Given the description of an element on the screen output the (x, y) to click on. 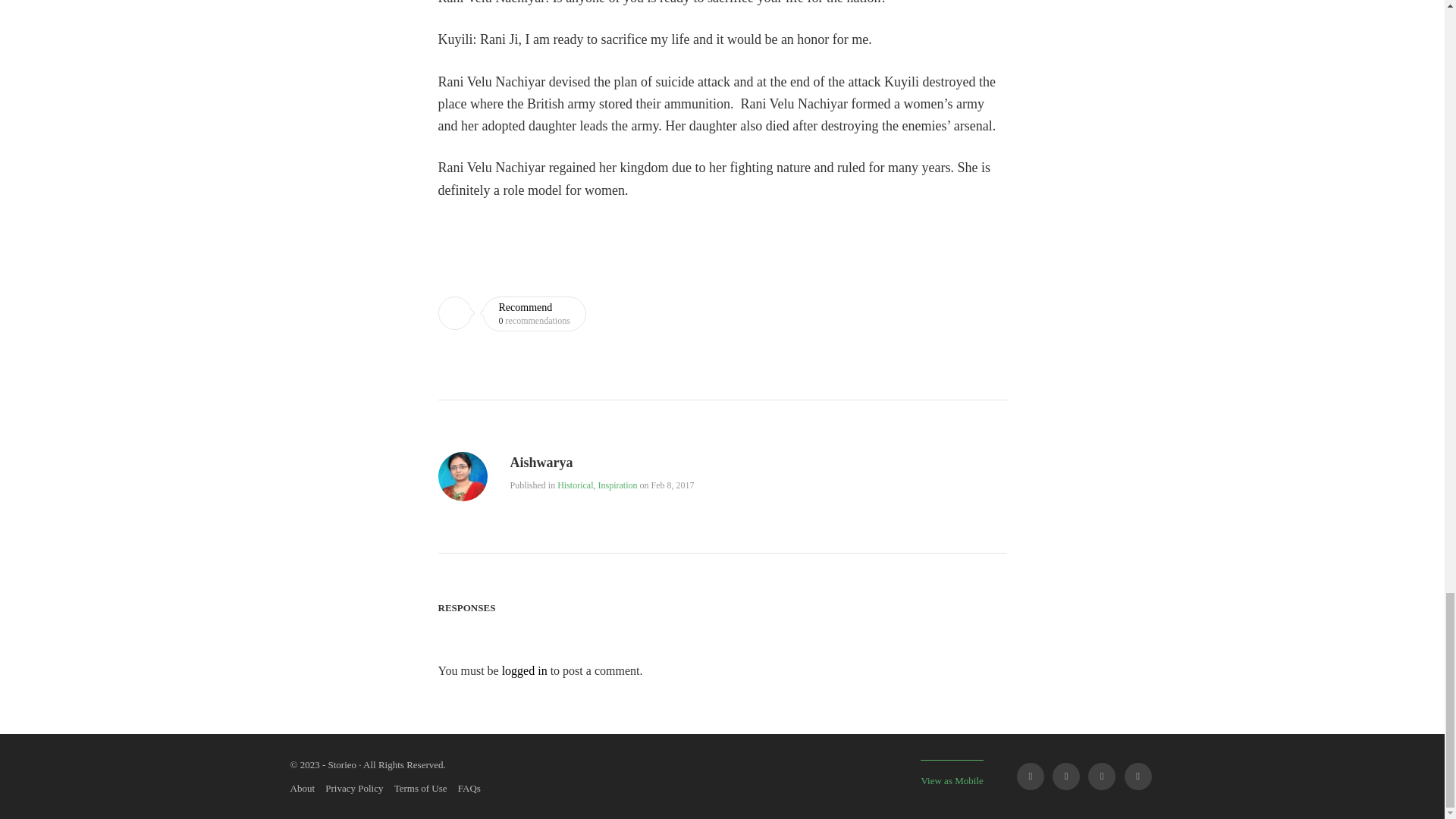
twitter (1066, 776)
View as Mobile (951, 773)
Recommend this article (512, 313)
linkedin (1101, 776)
View all posts by Aishwarya (462, 490)
7:16 pm (672, 484)
facebook (1029, 776)
instagram (1137, 776)
View all posts by Aishwarya (540, 463)
